Given the description of an element on the screen output the (x, y) to click on. 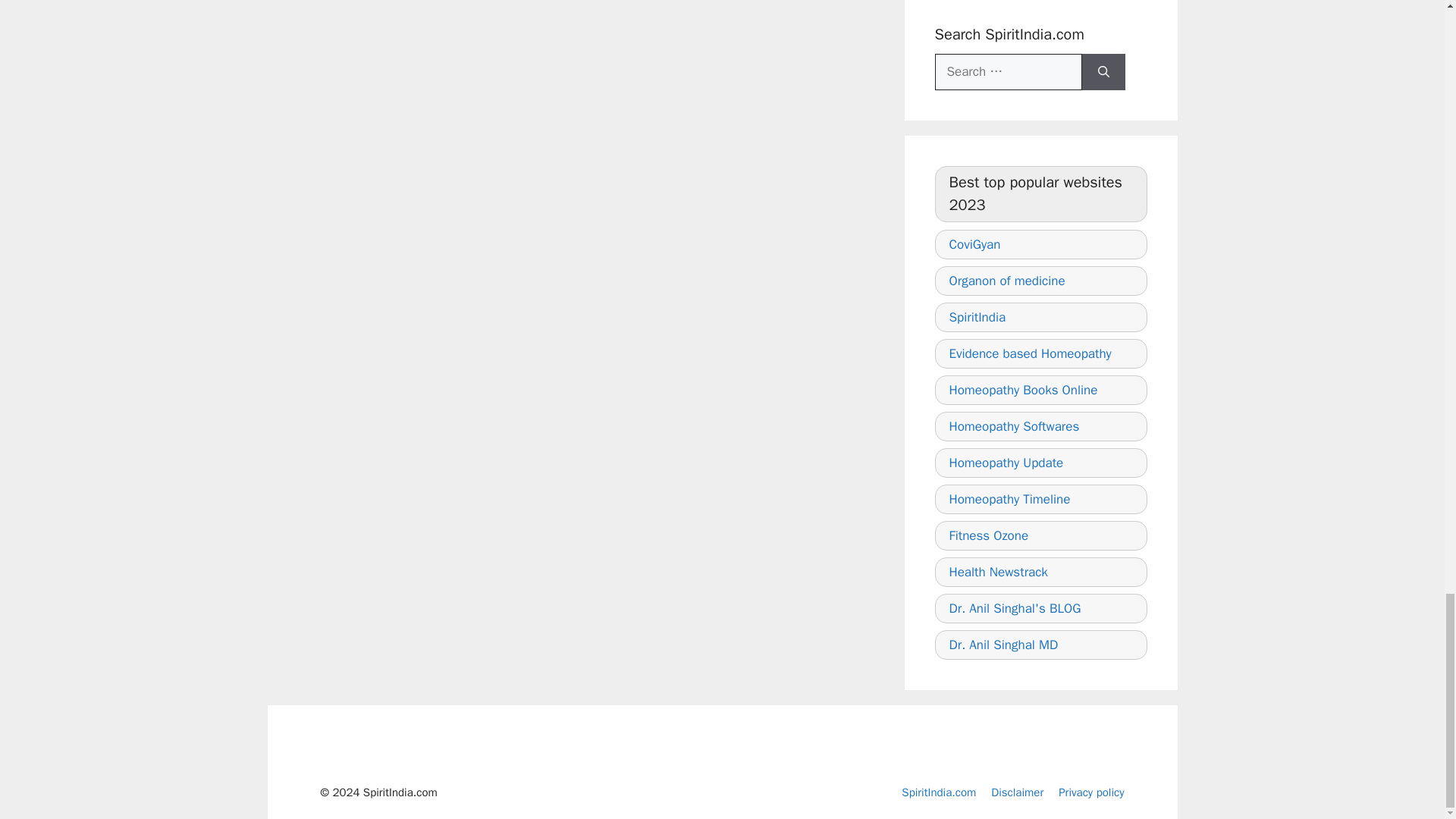
Search for: (1007, 72)
